Given the description of an element on the screen output the (x, y) to click on. 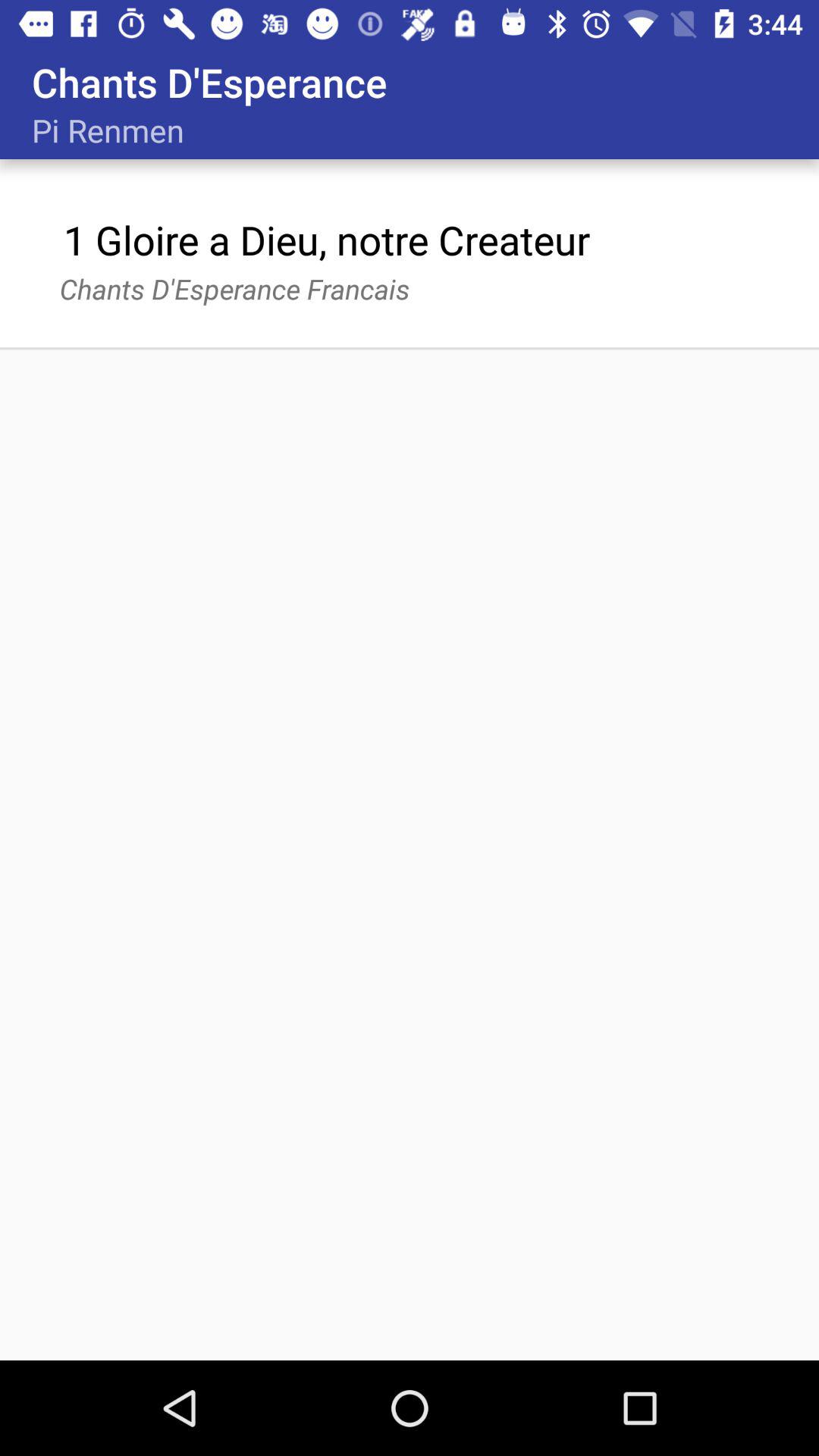
turn on the icon above chants d esperance item (326, 239)
